Given the description of an element on the screen output the (x, y) to click on. 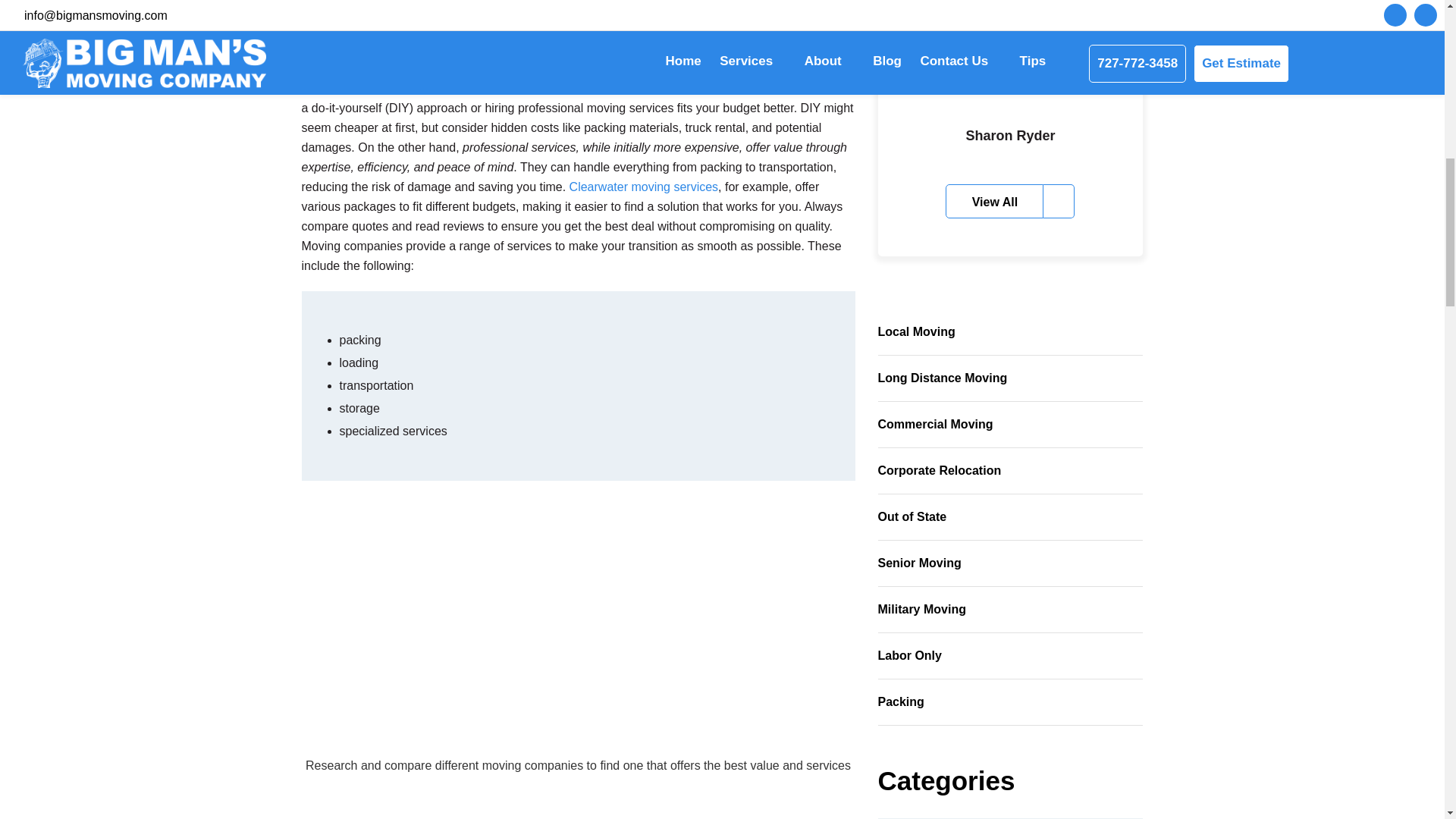
Clearwater moving services (644, 186)
